Given the description of an element on the screen output the (x, y) to click on. 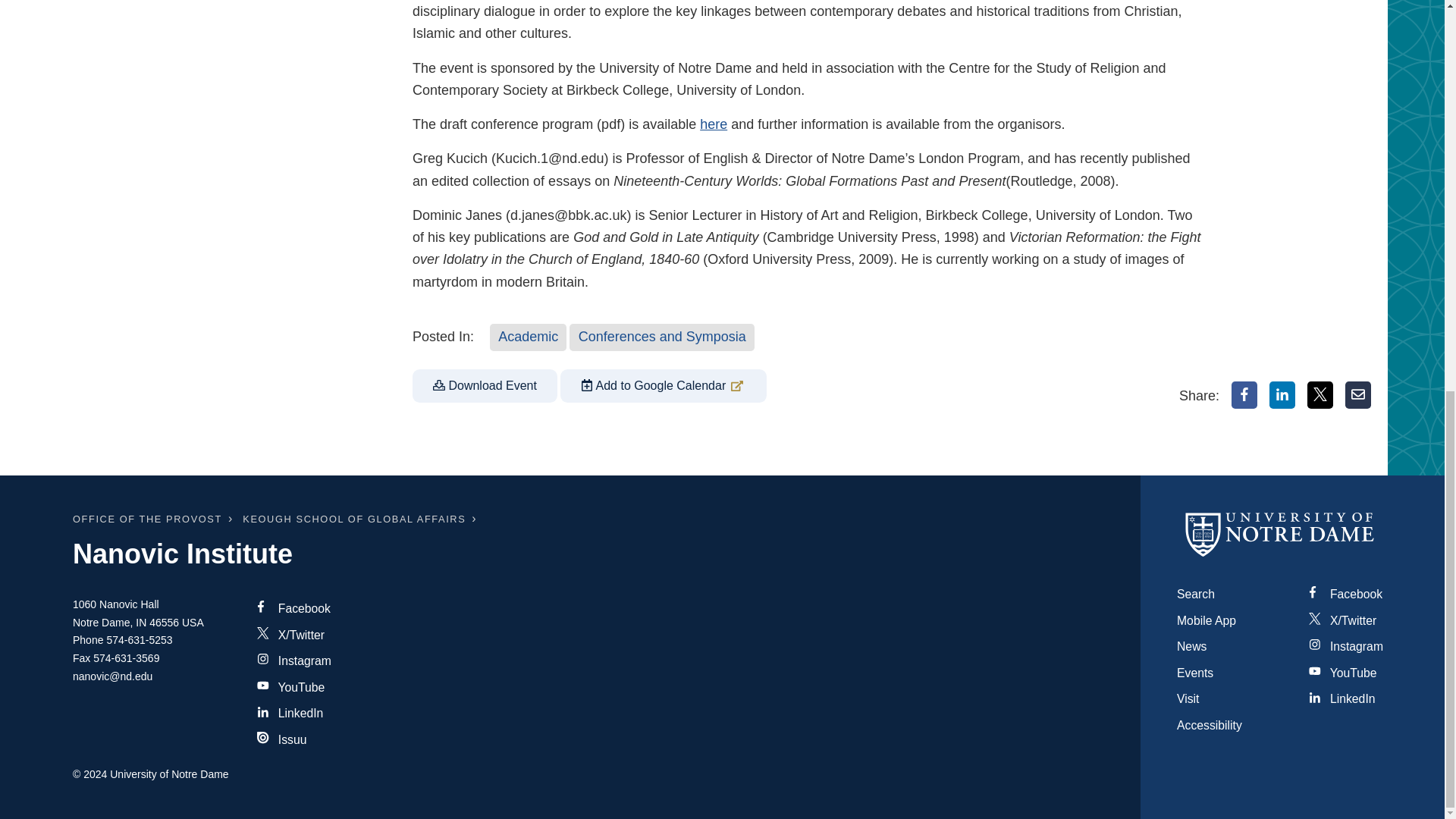
LinkedIn (1282, 394)
here (713, 124)
Facebook (1244, 394)
Email (1358, 394)
Conferences and Symposia (661, 337)
Academic (527, 337)
